Given the description of an element on the screen output the (x, y) to click on. 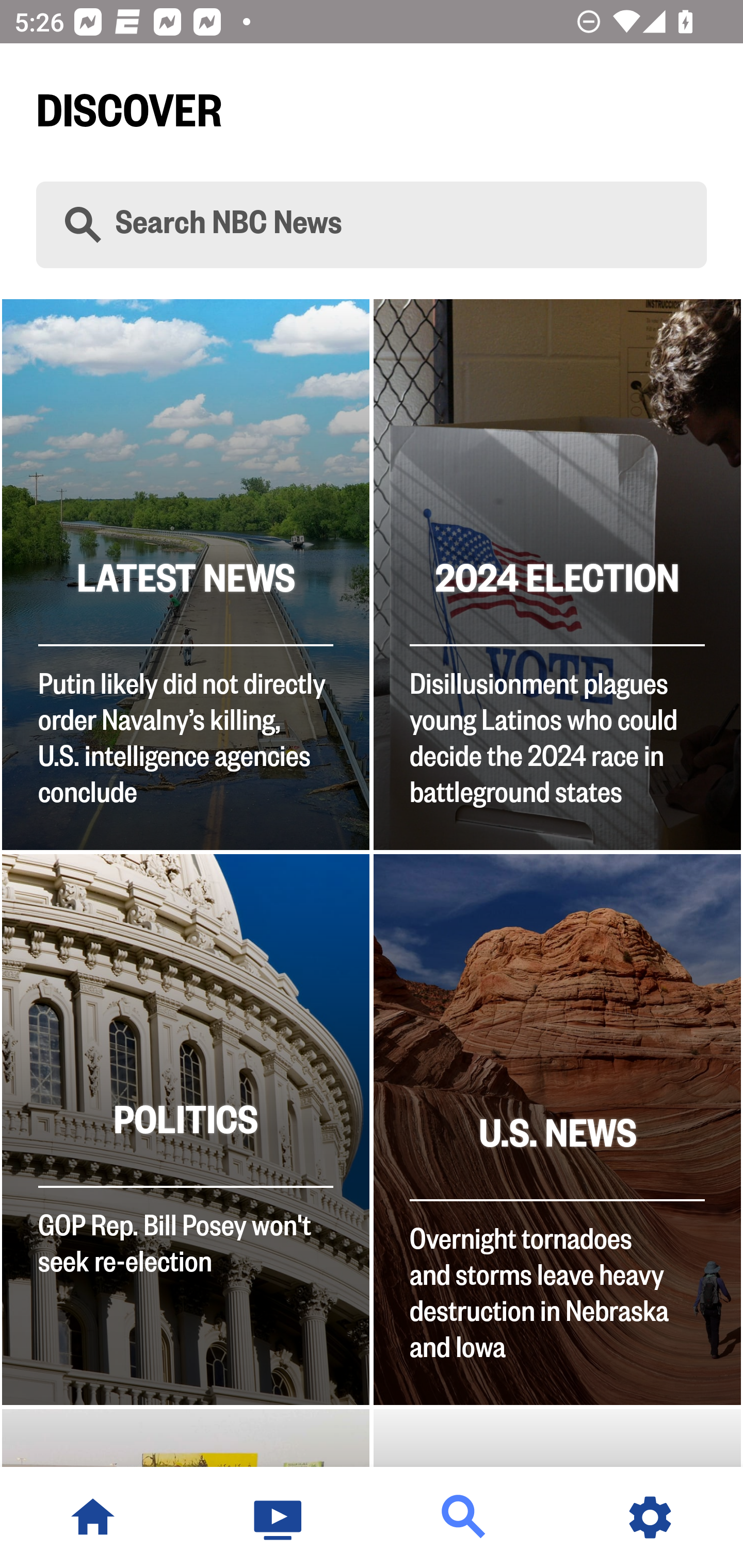
NBC News Home (92, 1517)
Watch (278, 1517)
Settings (650, 1517)
